Given the description of an element on the screen output the (x, y) to click on. 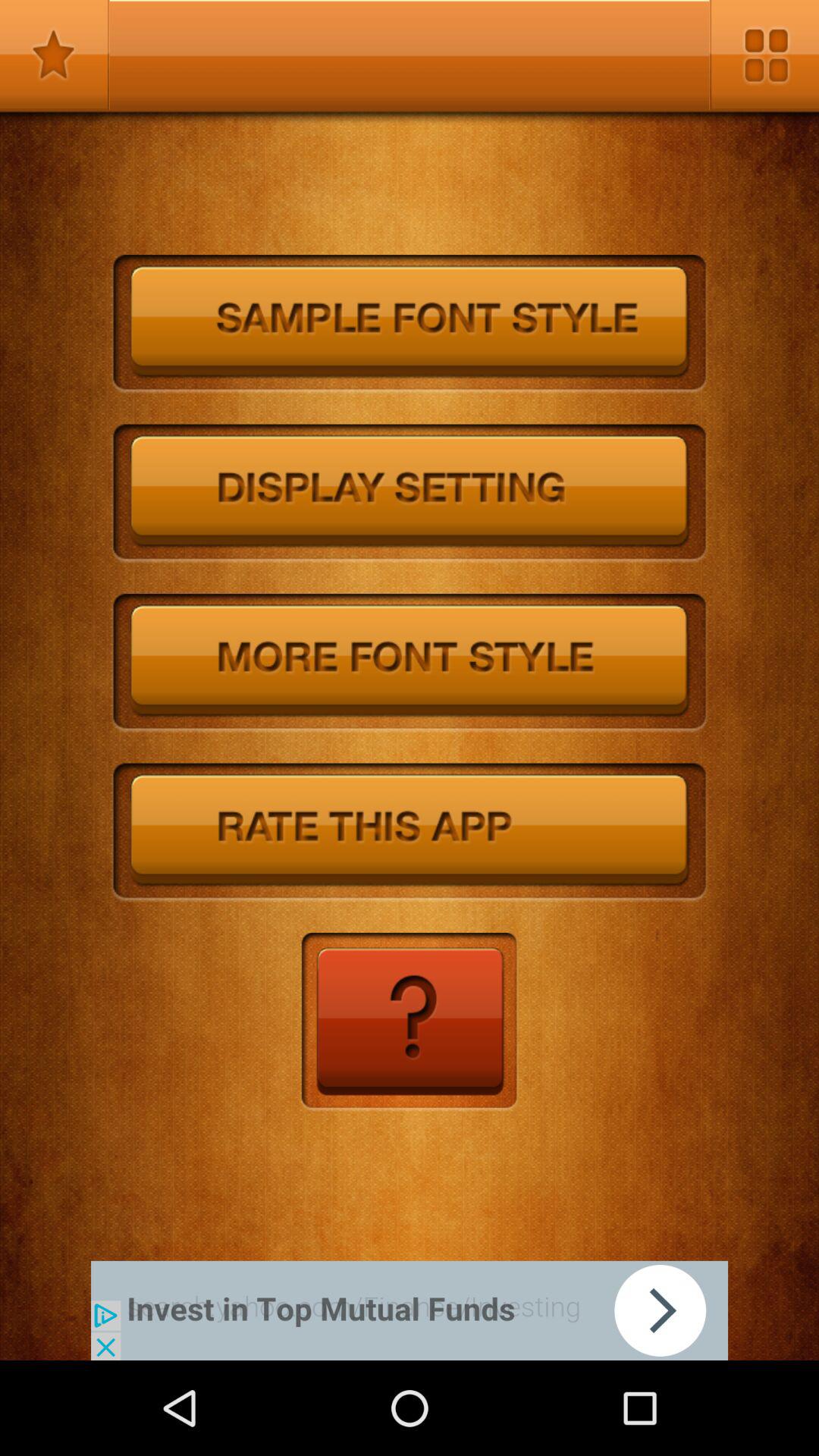
go to qustion opsin (408, 1021)
